Given the description of an element on the screen output the (x, y) to click on. 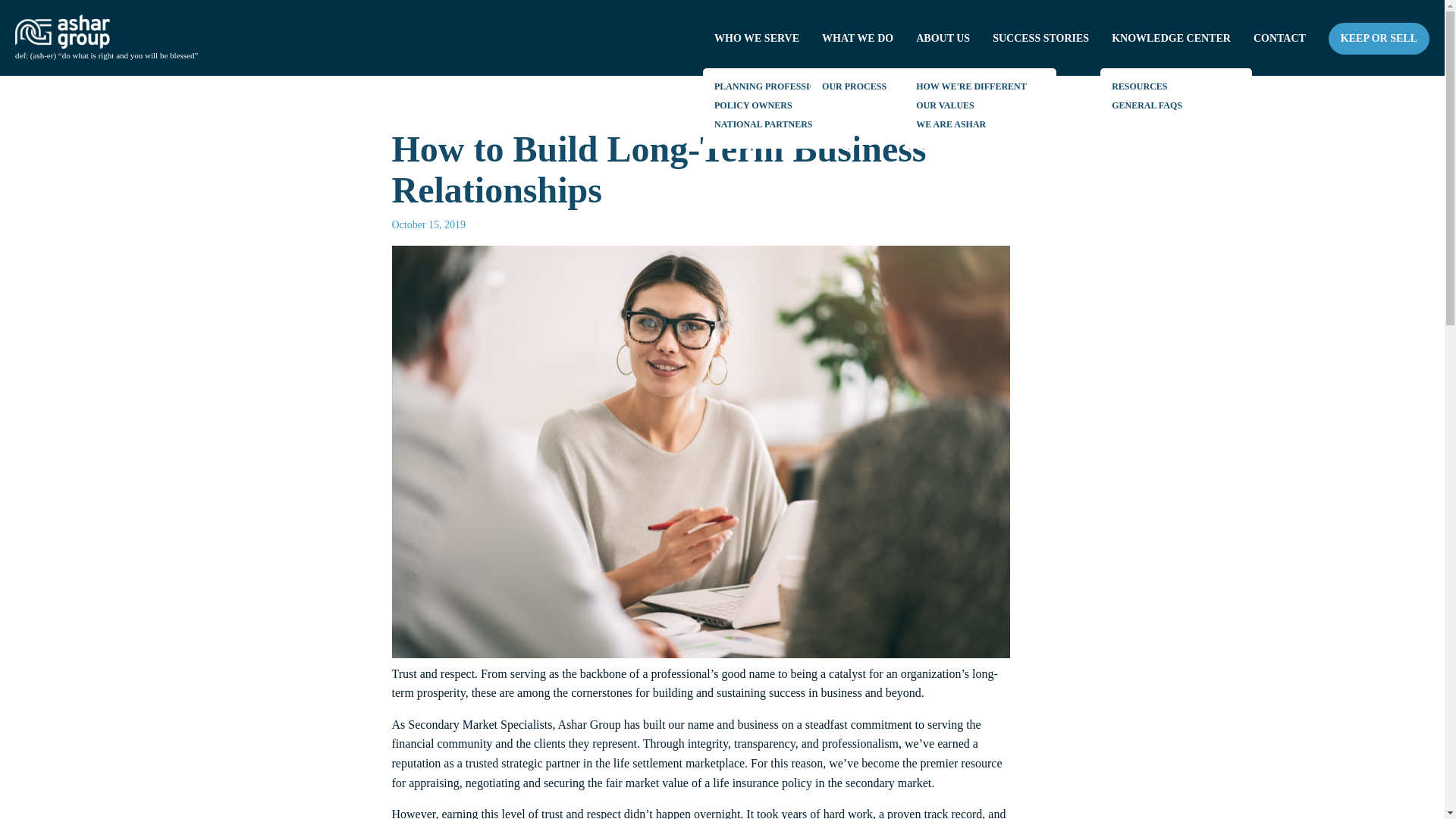
KEEP OR SELL (1378, 38)
KNOWLEDGE CENTER (1171, 38)
OUR PROCESS (854, 88)
OUR VALUES (944, 107)
SUCCESS STORIES (1040, 38)
CONTACT (1279, 38)
GENERAL FAQS (1147, 107)
RESOURCES (1139, 88)
POLICY OWNERS (753, 107)
NATIONAL PARTNERS (763, 126)
